Given the description of an element on the screen output the (x, y) to click on. 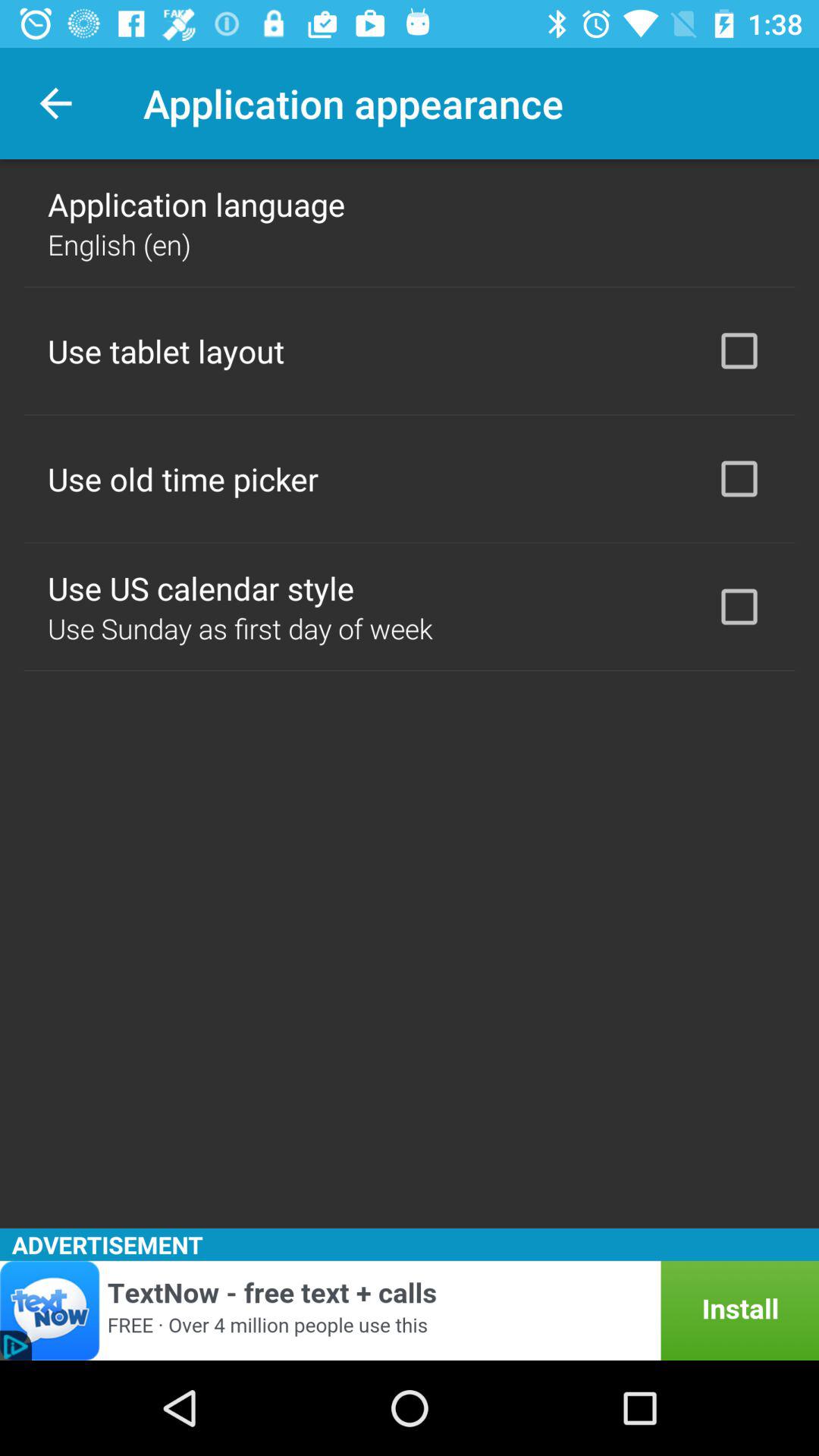
check tablet layout option (739, 350)
